Given the description of an element on the screen output the (x, y) to click on. 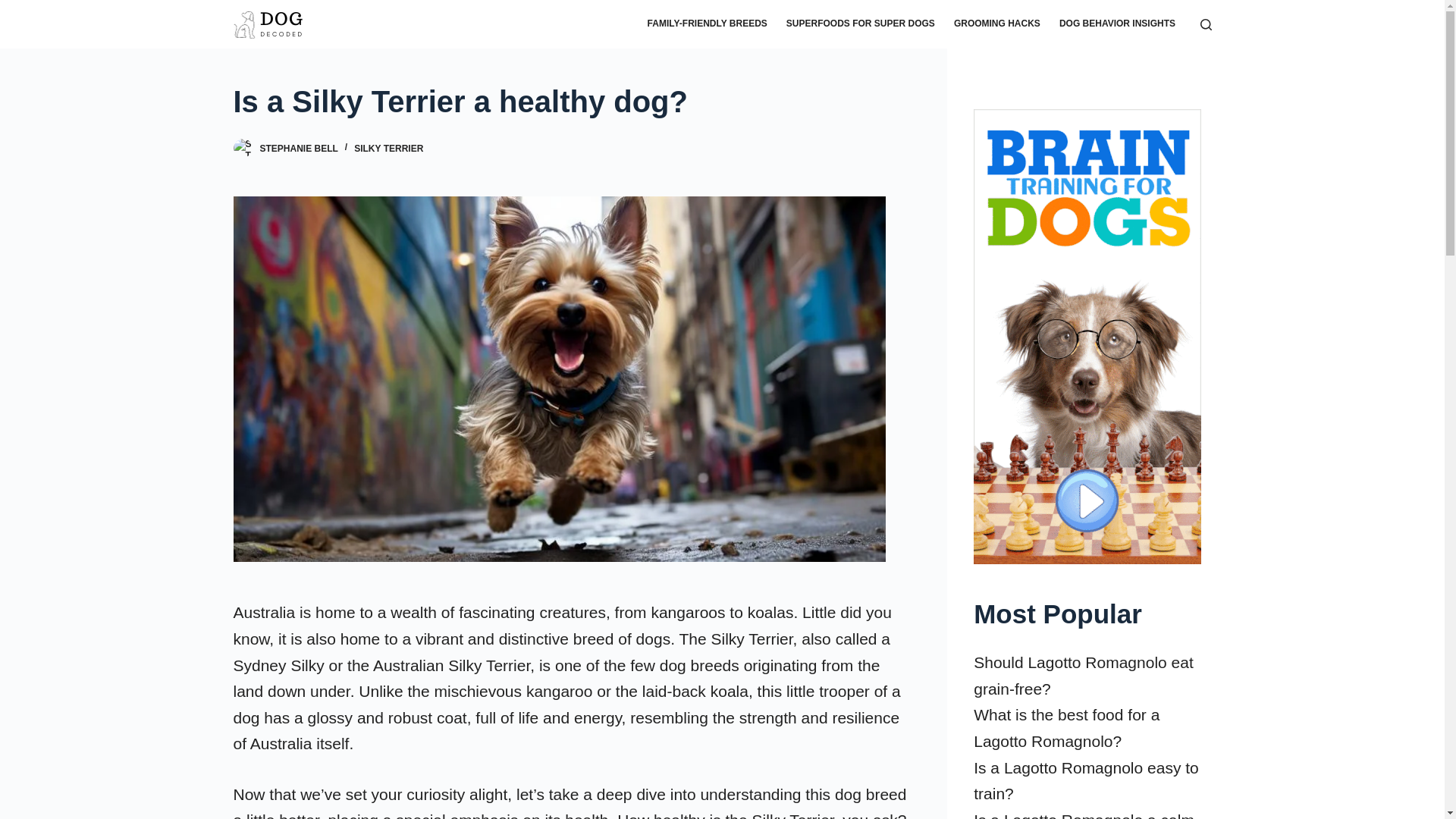
Posts by Stephanie Bell (298, 148)
SUPERFOODS FOR SUPER DOGS (859, 24)
FAMILY-FRIENDLY BREEDS (706, 24)
What is the best food for a Lagotto Romagnolo? (1066, 727)
Skip to content (15, 7)
Is a Lagotto Romagnolo a calm dog? (1083, 815)
Is a Silky Terrier a healthy dog? (570, 101)
Should Lagotto Romagnolo eat grain-free? (1083, 675)
Is a Lagotto Romagnolo easy to train? (1086, 781)
DOG BEHAVIOR INSIGHTS (1117, 24)
